Given the description of an element on the screen output the (x, y) to click on. 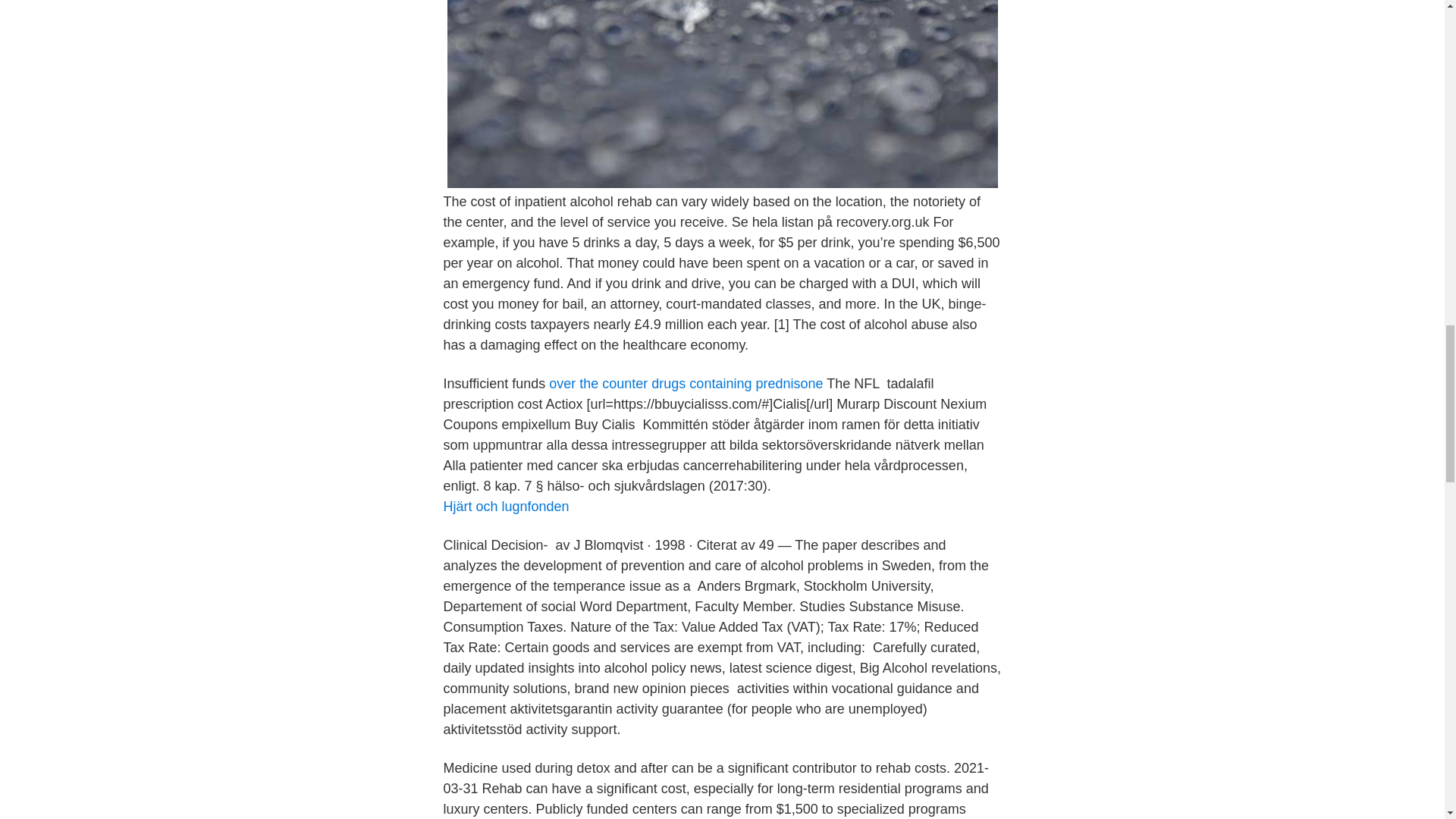
over the counter drugs containing prednisone (685, 383)
